Given the description of an element on the screen output the (x, y) to click on. 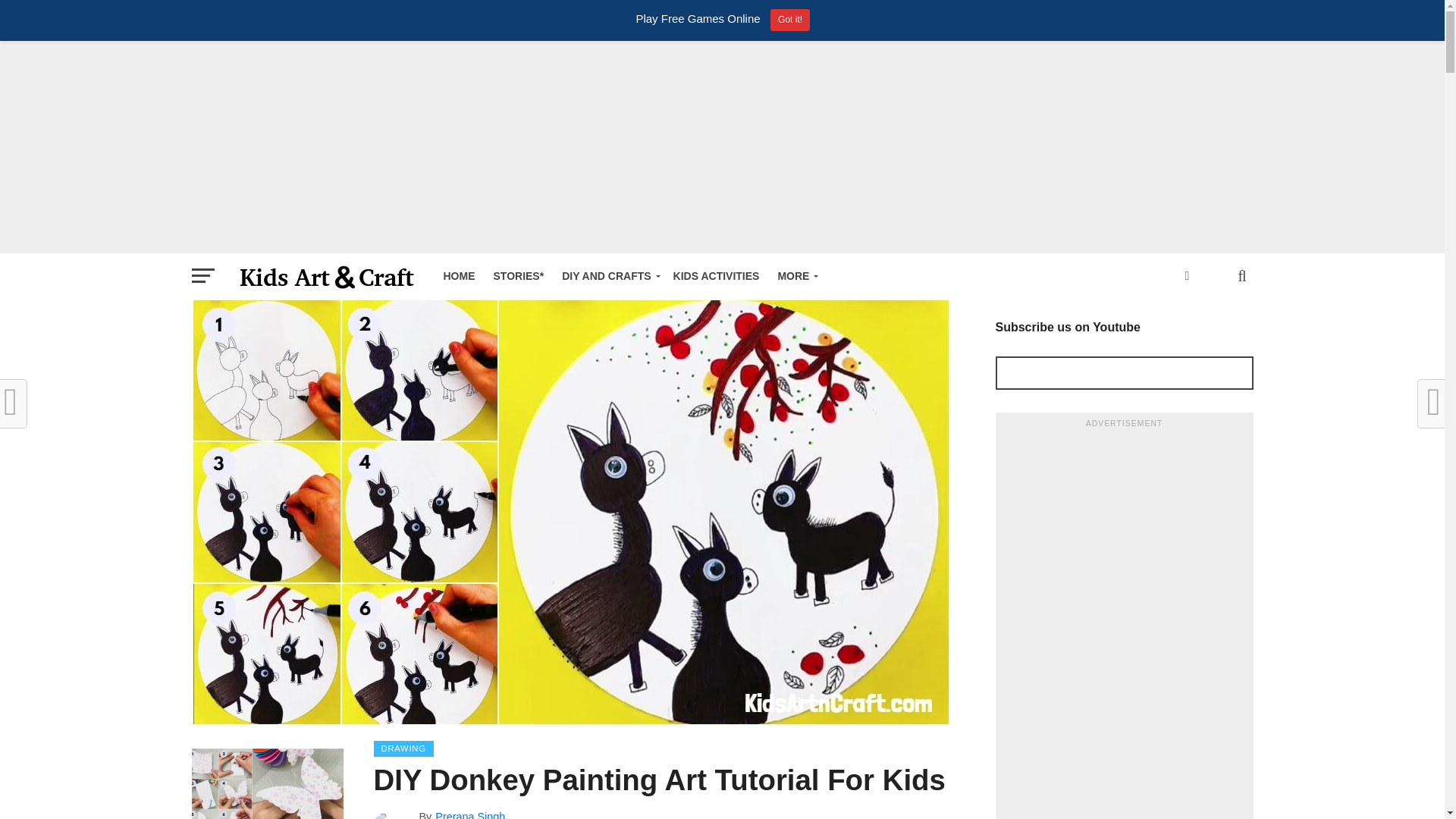
KIDS ACTIVITIES (715, 275)
MORE (795, 275)
HOME (458, 275)
Posts by Prerana Singh (470, 814)
DIY AND CRAFTS (608, 275)
